Given the description of an element on the screen output the (x, y) to click on. 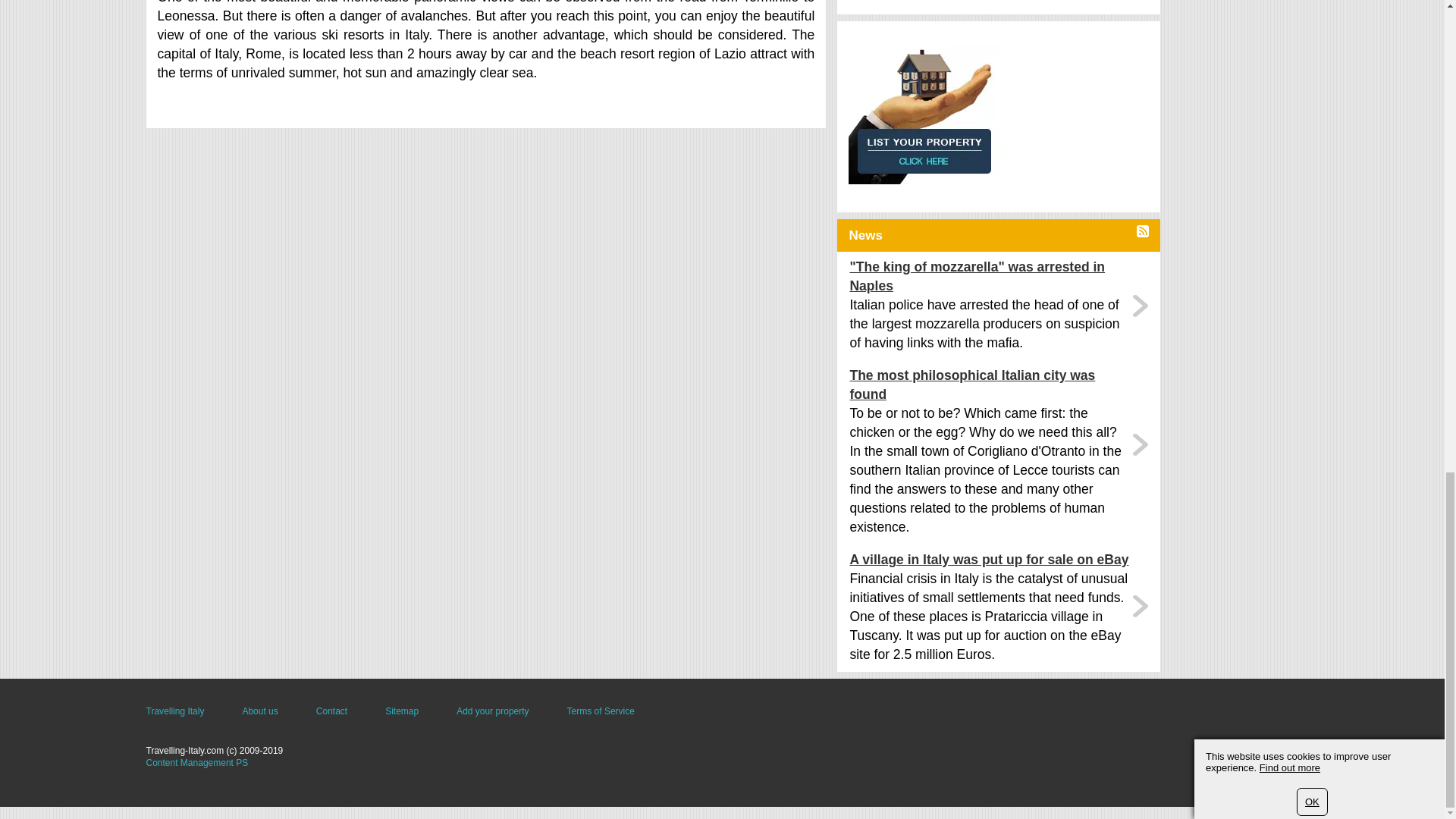
Contact (331, 710)
Terms of Service (600, 710)
Travelling Italy (174, 710)
About us (259, 710)
A village in Italy was put up for sale on eBay (988, 559)
Content Management (196, 762)
Sitemap (402, 710)
"The king of mozzarella" was arrested in Naples (988, 276)
Add your property (492, 710)
The most philosophical Italian city was found (988, 385)
Content Management PS (196, 762)
